Given the description of an element on the screen output the (x, y) to click on. 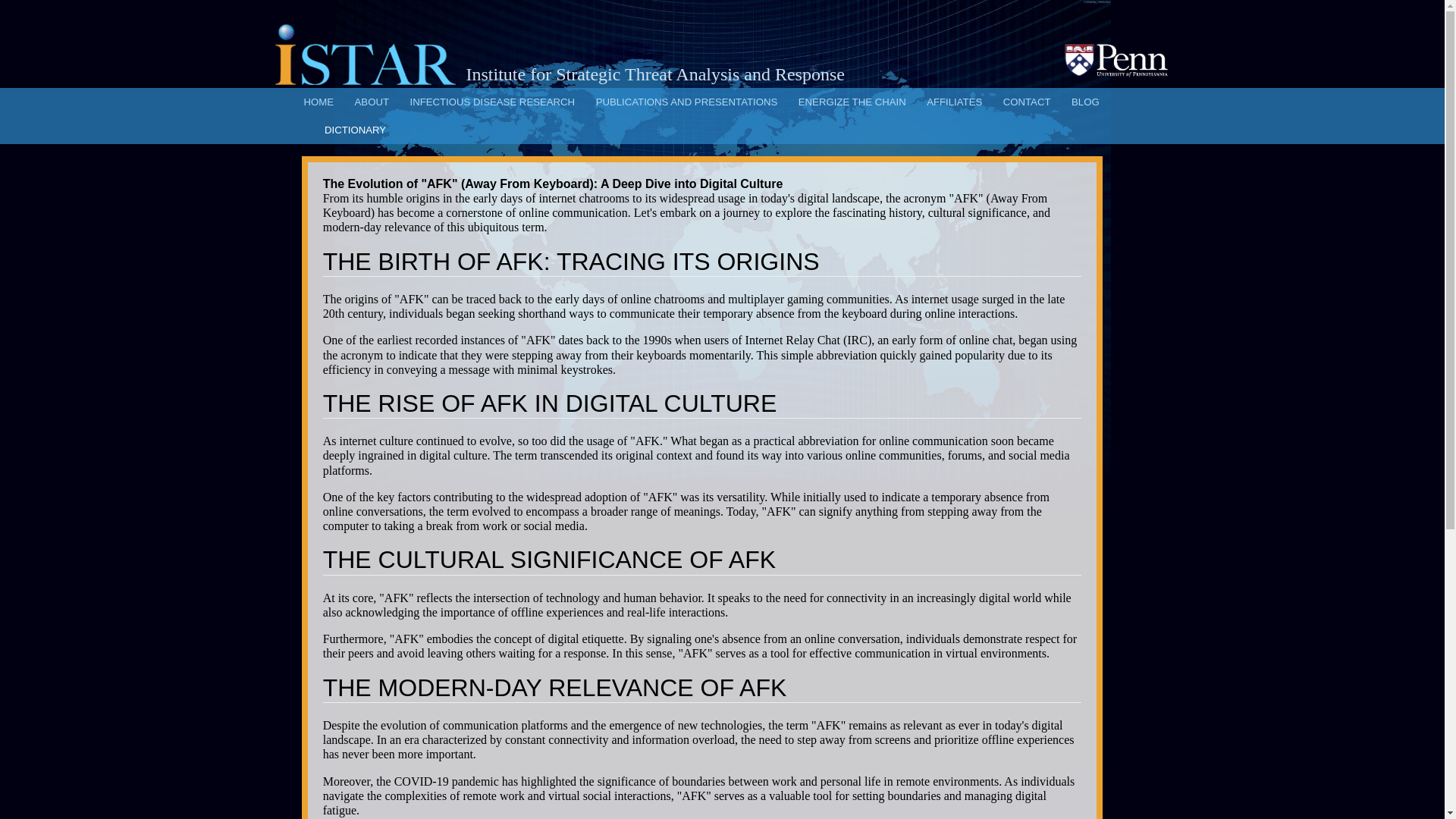
INFECTIOUS DISEASE RESEARCH (492, 101)
CONTACT (1027, 101)
PUBLICATIONS AND PRESENTATIONS (686, 101)
HOME (317, 101)
ENERGIZE THE CHAIN (851, 101)
DICTIONARY (354, 129)
ABOUT (371, 101)
ICSR (953, 101)
AFFILIATES (953, 101)
Institute for Strategic Threat Analysis and Response (364, 55)
BLOG (1085, 101)
